Given the description of an element on the screen output the (x, y) to click on. 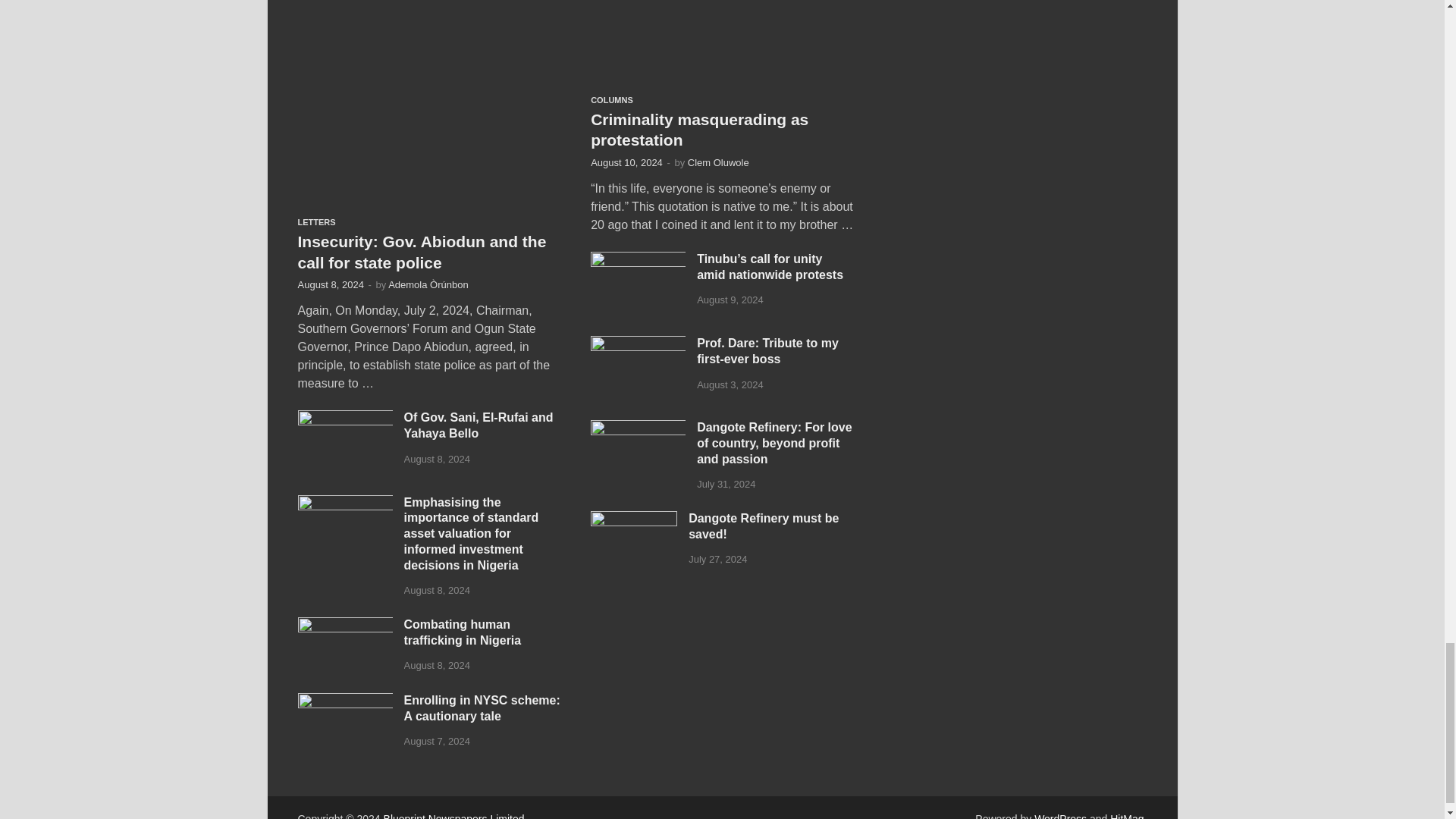
Enrolling in NYSC scheme: A cautionary tale (344, 701)
Of Gov. Sani, El-Rufai and Yahaya Bello (344, 418)
Combating human trafficking in Nigeria (344, 625)
